Given the description of an element on the screen output the (x, y) to click on. 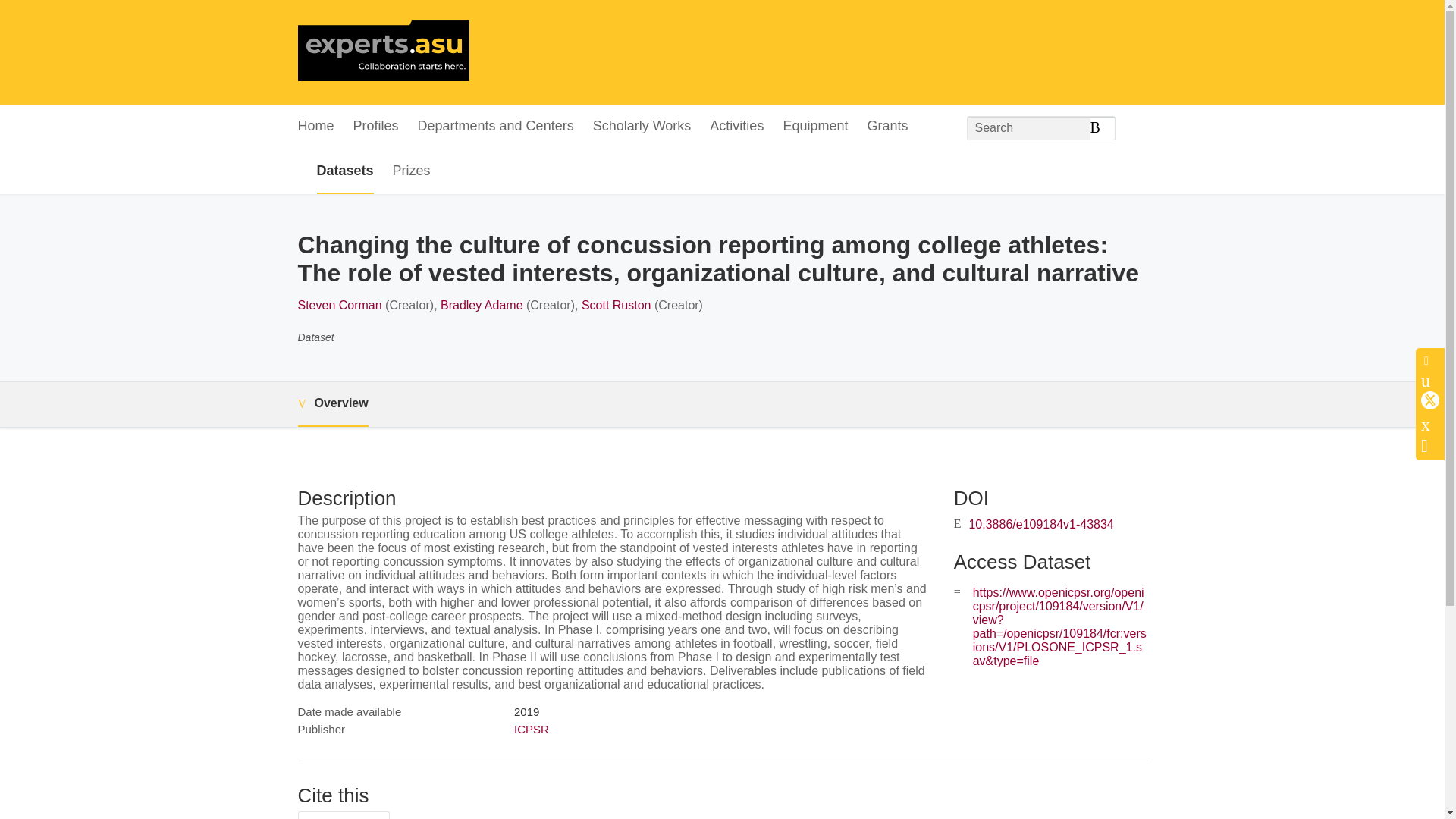
Arizona State University Home (382, 52)
Activities (736, 126)
ICPSR (530, 728)
Datasets (345, 171)
Scott Ruston (615, 305)
Steven Corman (339, 305)
Grants (886, 126)
Bradley Adame (481, 305)
Profiles (375, 126)
Equipment (815, 126)
Overview (332, 404)
Departments and Centers (495, 126)
Scholarly Works (641, 126)
